Given the description of an element on the screen output the (x, y) to click on. 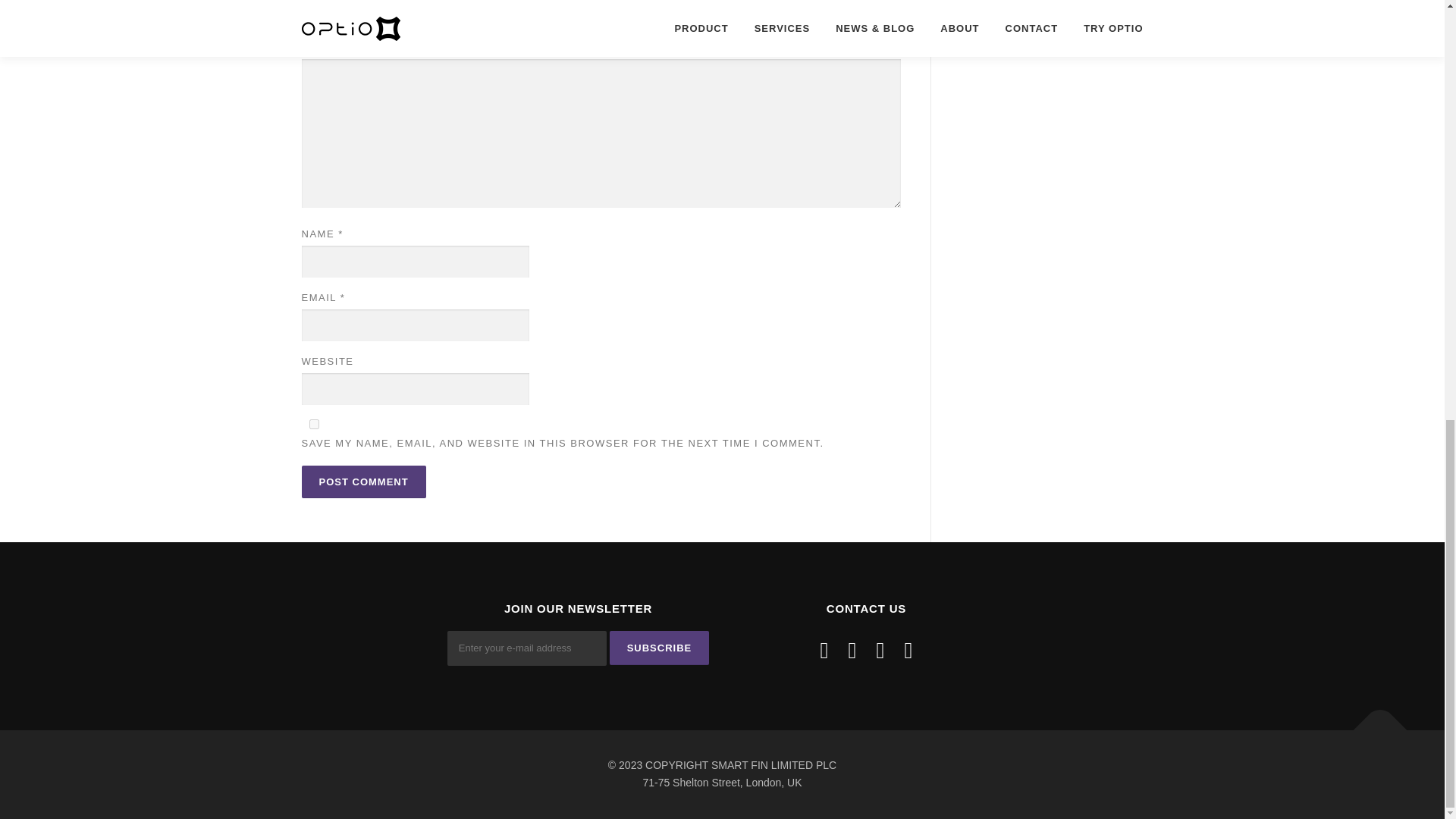
Post Comment (363, 481)
Back To Top (1372, 721)
Subscribe (660, 647)
Post Comment (363, 481)
yes (313, 424)
